Given the description of an element on the screen output the (x, y) to click on. 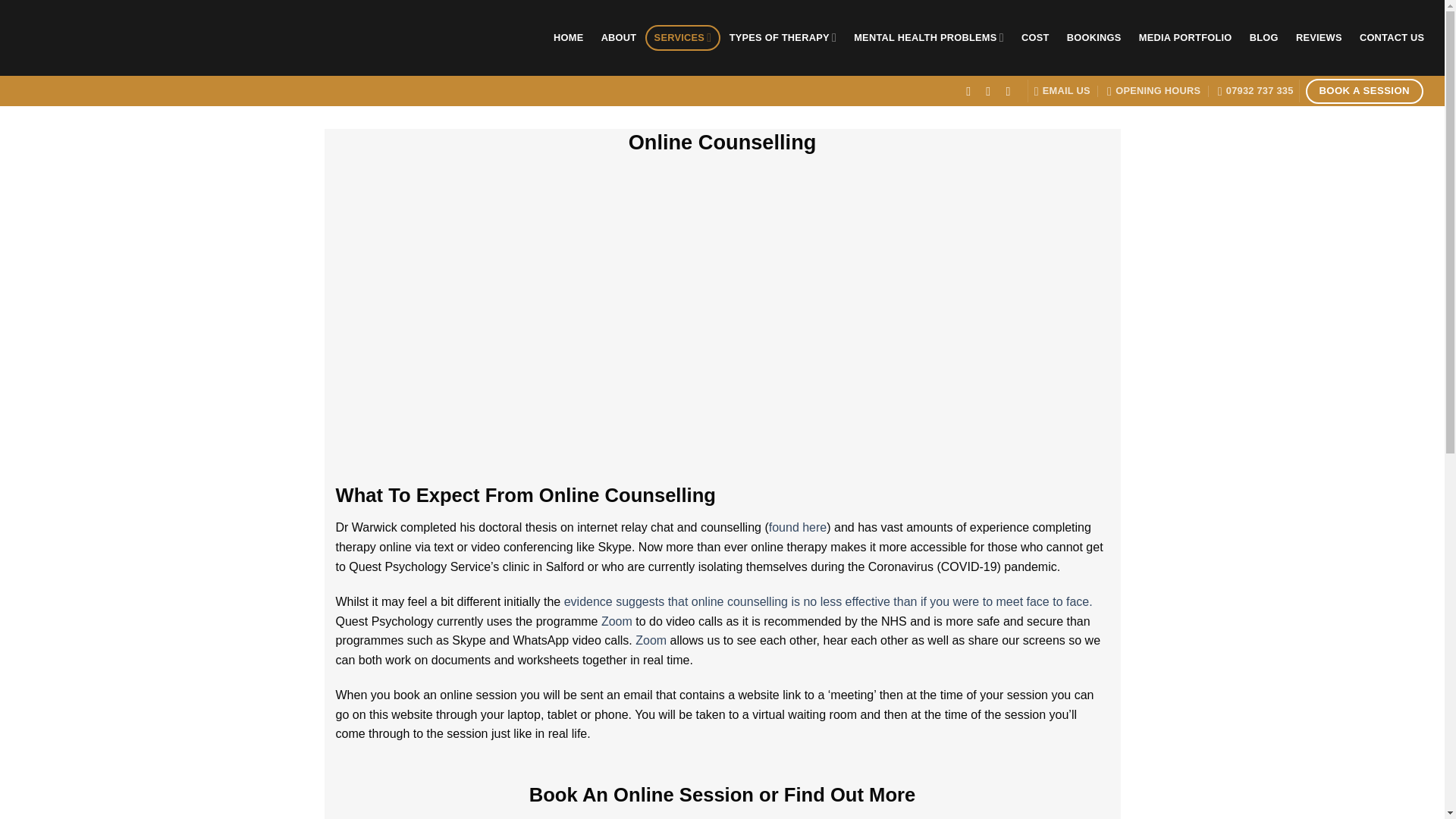
BLOG (1263, 38)
MENTAL HEALTH PROBLEMS (929, 38)
Follow on Facebook (972, 90)
SERVICES (682, 38)
BOOKINGS (1093, 38)
BOOK A SESSION (1364, 91)
Follow on LinkedIn (1011, 90)
REVIEWS (1319, 38)
MEDIA PORTFOLIO (1184, 38)
EMAIL US (1061, 91)
